Given the description of an element on the screen output the (x, y) to click on. 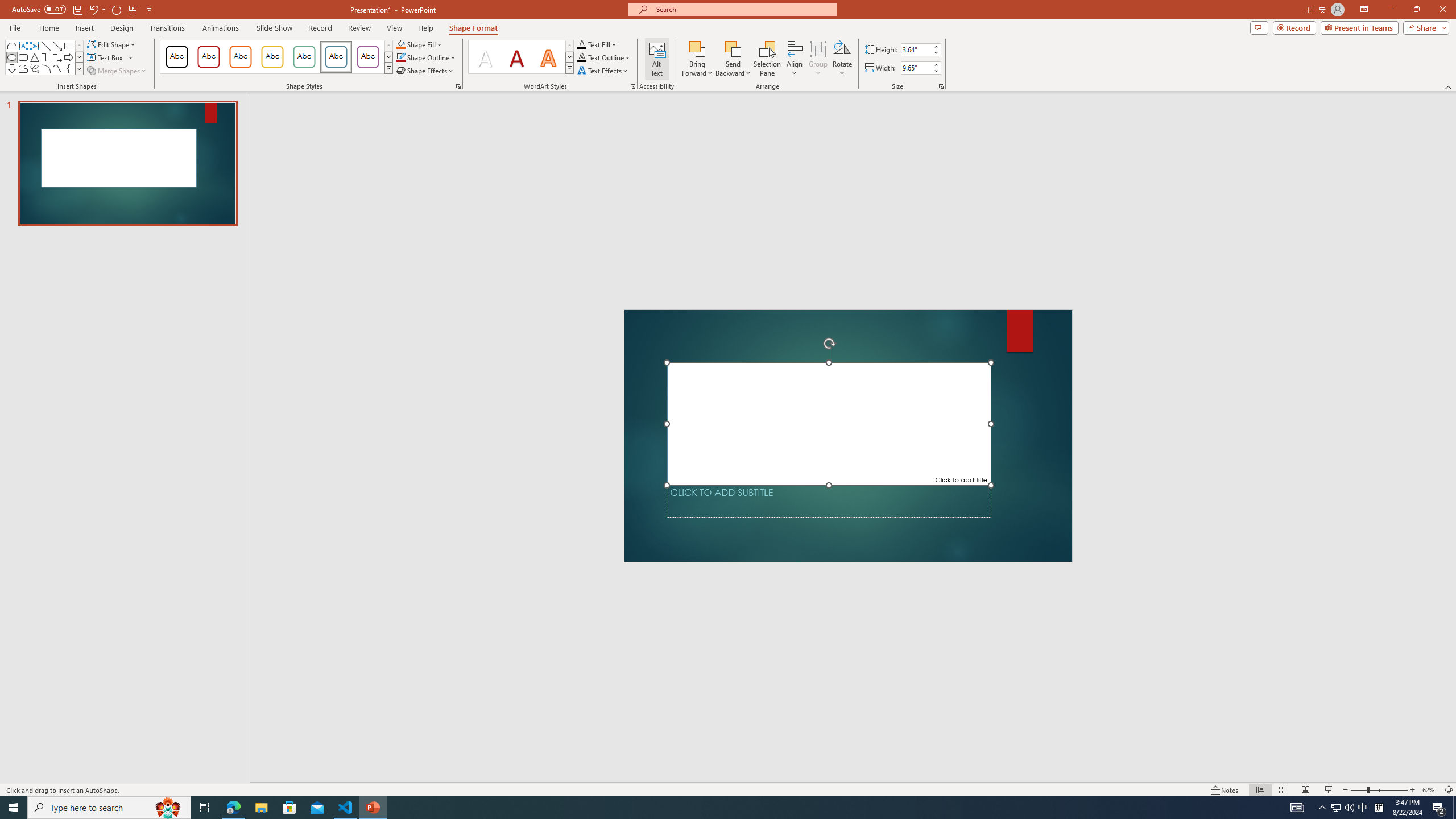
Merge Shapes (117, 69)
Selection Pane... (767, 58)
Quick Styles (568, 67)
Colored Outline - Purple, Accent 6 (368, 56)
Left Brace (68, 68)
Text Box (23, 45)
Shape Height (915, 49)
